Given the description of an element on the screen output the (x, y) to click on. 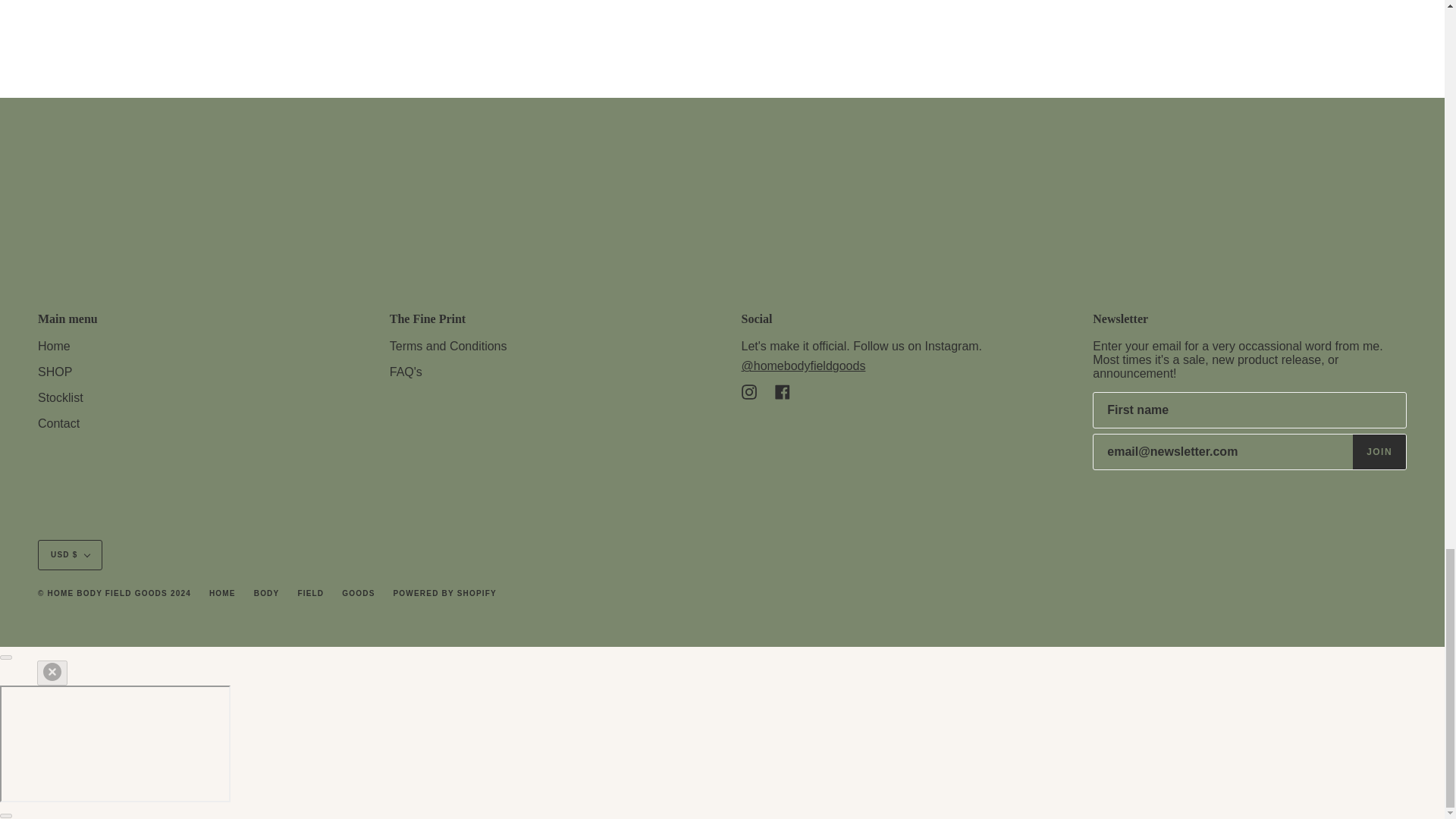
Home Body Field Goods on Instagram (749, 391)
Home Body Field Goods on Facebook (782, 391)
